Given the description of an element on the screen output the (x, y) to click on. 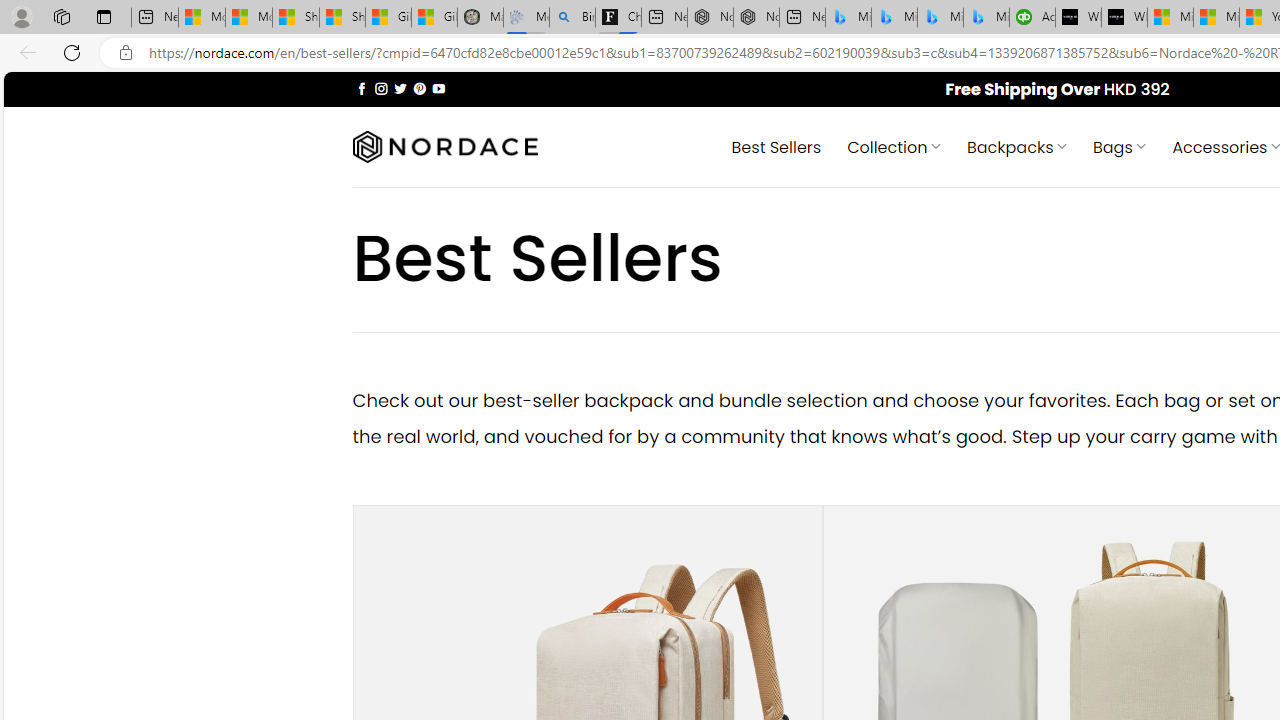
 Best Sellers (775, 146)
